Given the description of an element on the screen output the (x, y) to click on. 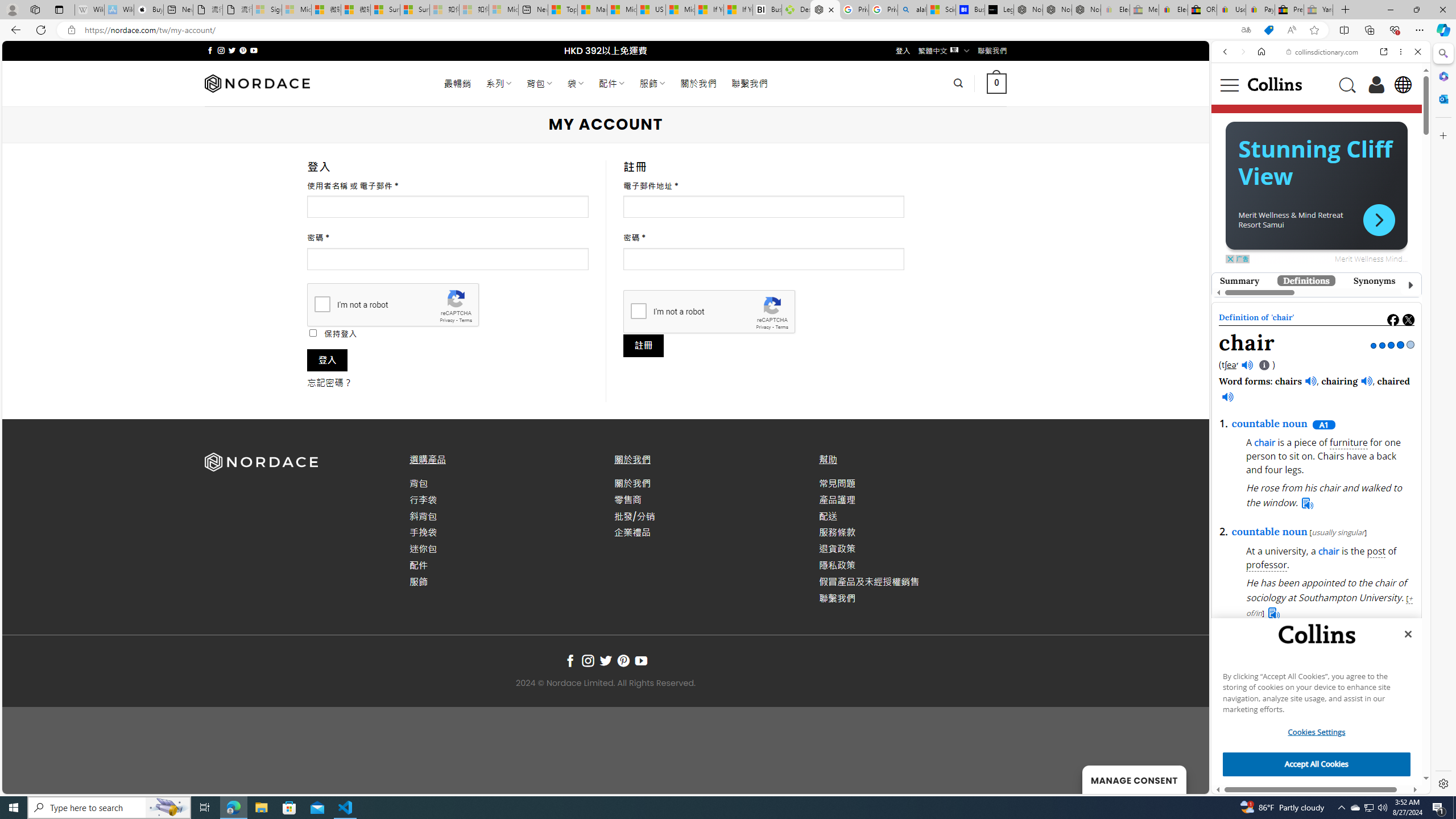
committee (1269, 704)
Class: ns-rrwcd-e-10 svg-anchor (1378, 219)
Sign in to your Microsoft account - Sleeping (266, 9)
lead (1324, 481)
